Given the description of an element on the screen output the (x, y) to click on. 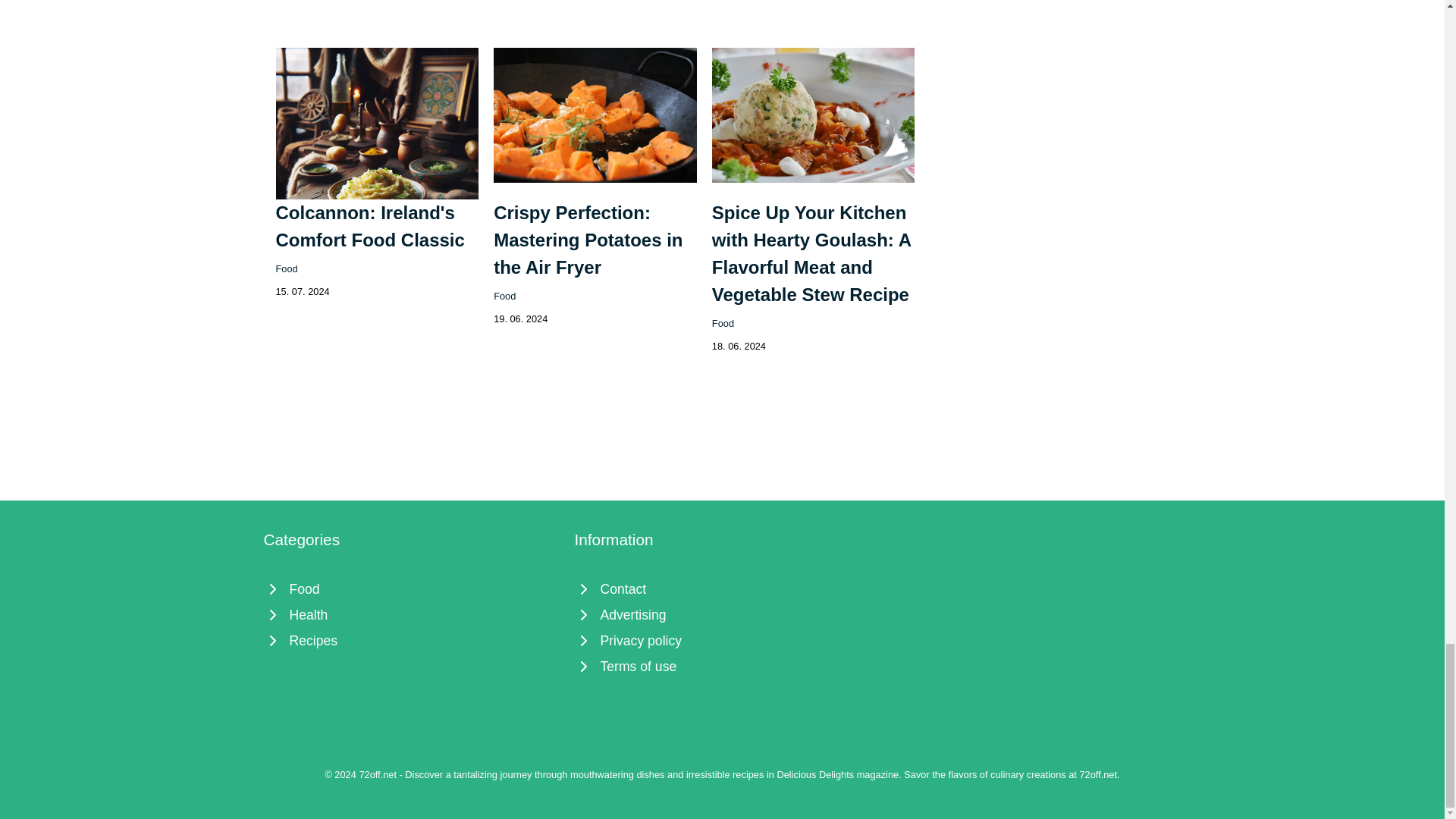
Food (504, 296)
Colcannon: Ireland's Comfort Food Classic (370, 226)
Food (722, 323)
Advertising (722, 614)
Privacy policy (722, 640)
Terms of use (722, 666)
Crispy Perfection: Mastering Potatoes in the Air Fryer (587, 239)
Recipes (411, 640)
Food (287, 268)
Contact (722, 588)
Health (411, 614)
Food (411, 588)
